Given the description of an element on the screen output the (x, y) to click on. 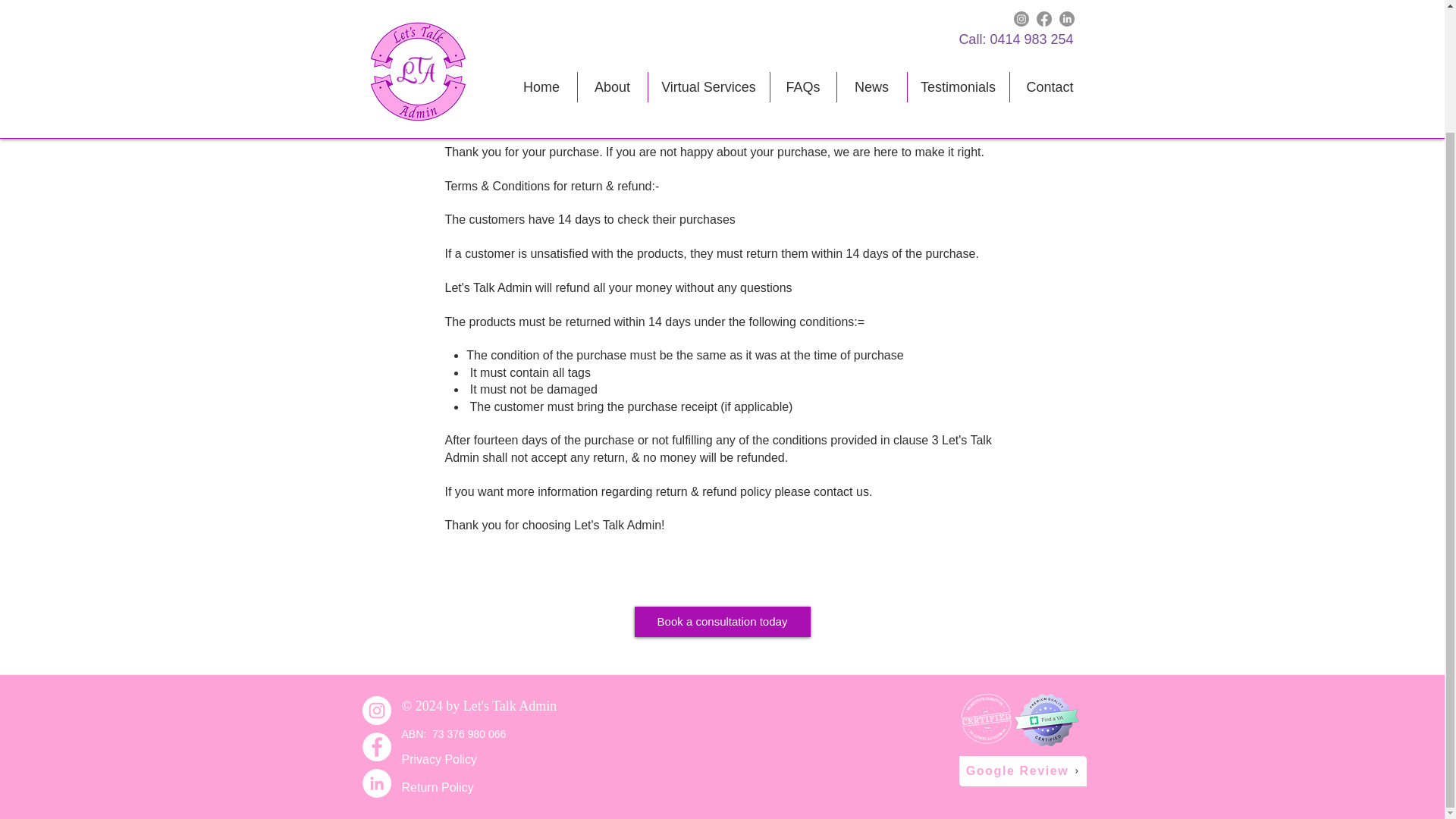
Book a consultation today (721, 621)
Google Review (1022, 770)
Return Policy (437, 787)
Privacy Policy (439, 758)
